Given the description of an element on the screen output the (x, y) to click on. 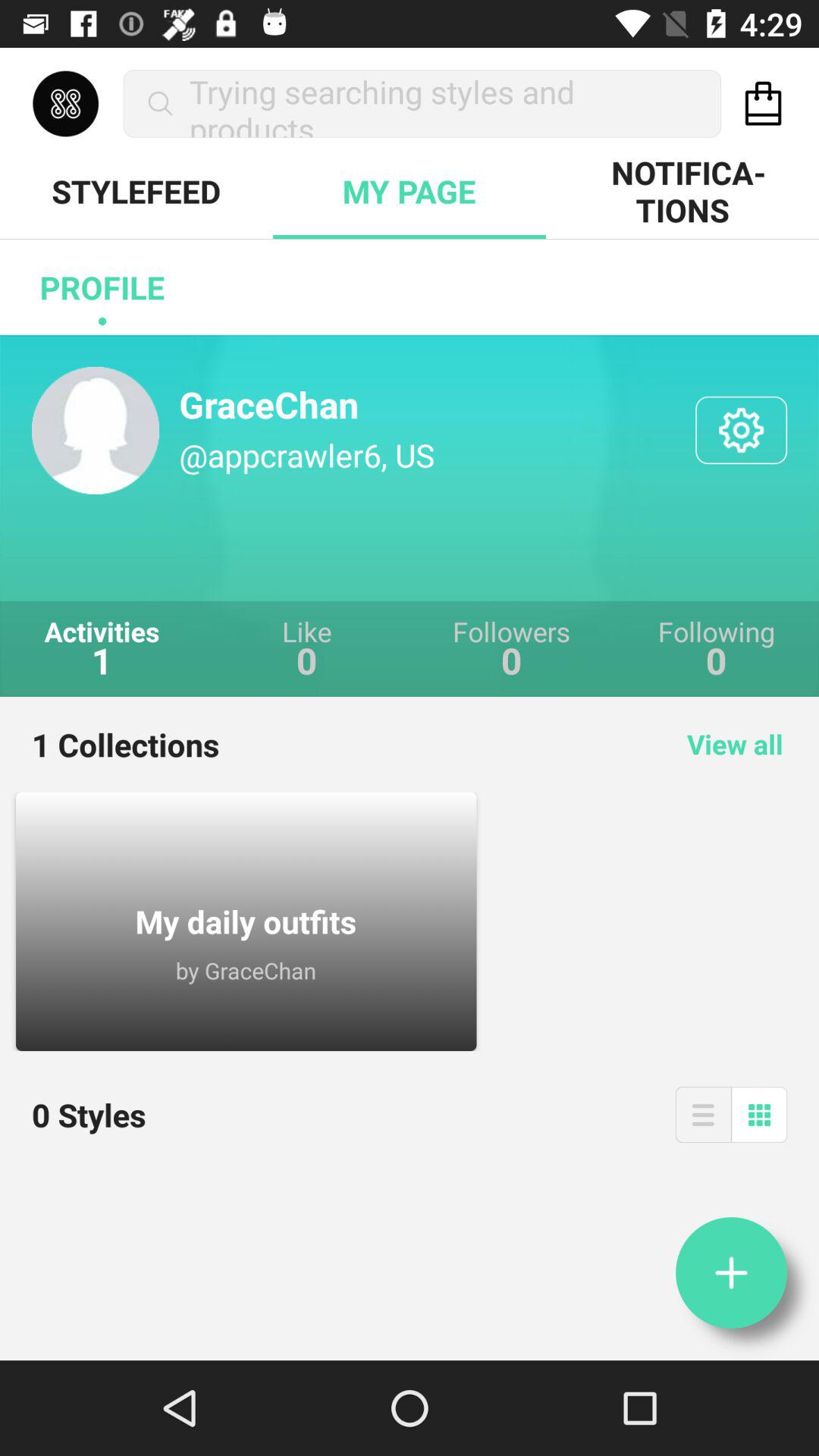
flip until the view all icon (735, 743)
